Given the description of an element on the screen output the (x, y) to click on. 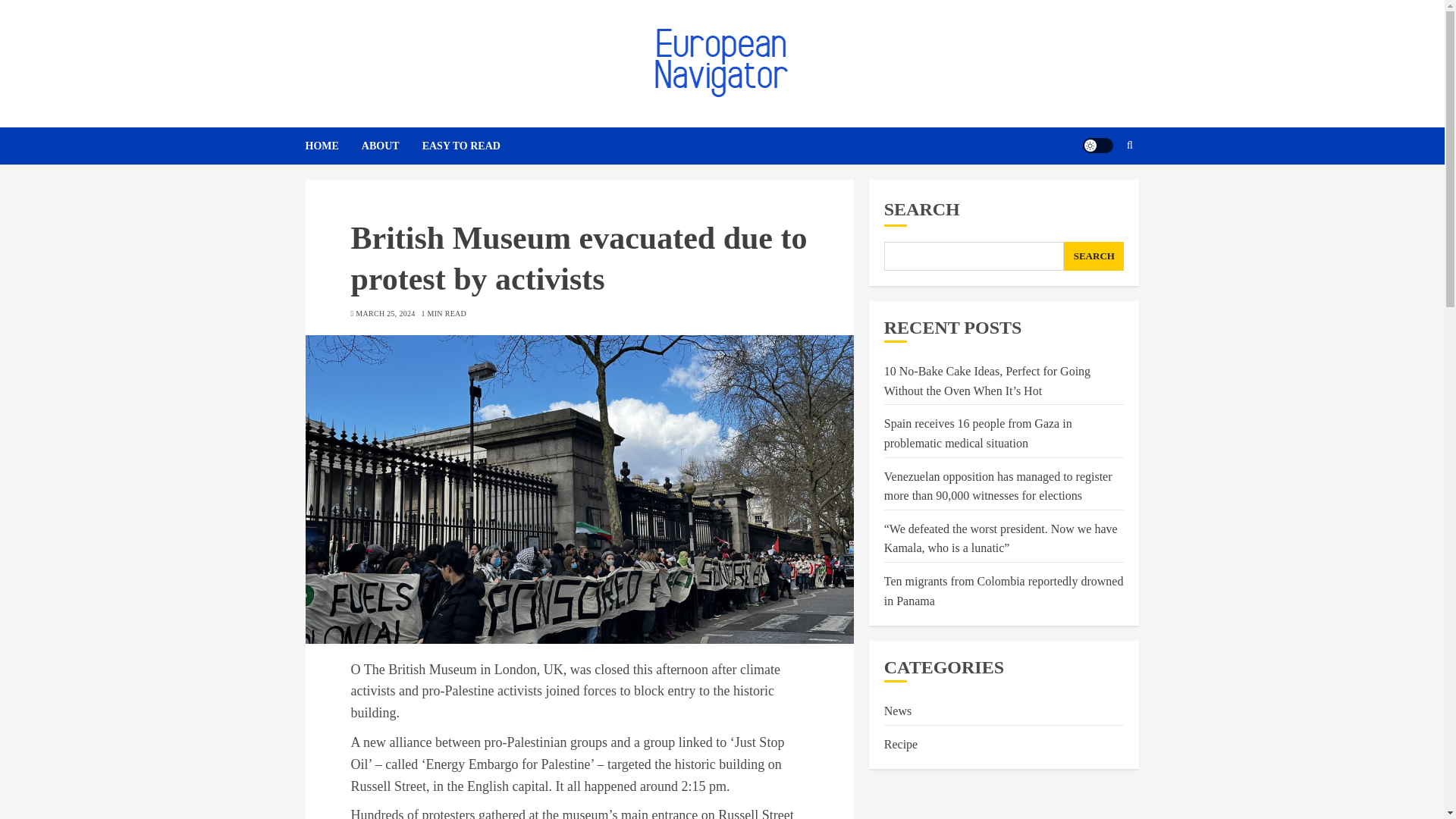
Search (1130, 145)
Recipe (900, 744)
Search (1099, 191)
SEARCH (1094, 256)
HOME (332, 145)
MARCH 25, 2024 (384, 313)
Ten migrants from Colombia reportedly drowned in Panama (1003, 591)
ABOUT (391, 145)
News (897, 711)
EASY TO READ (461, 145)
